Given the description of an element on the screen output the (x, y) to click on. 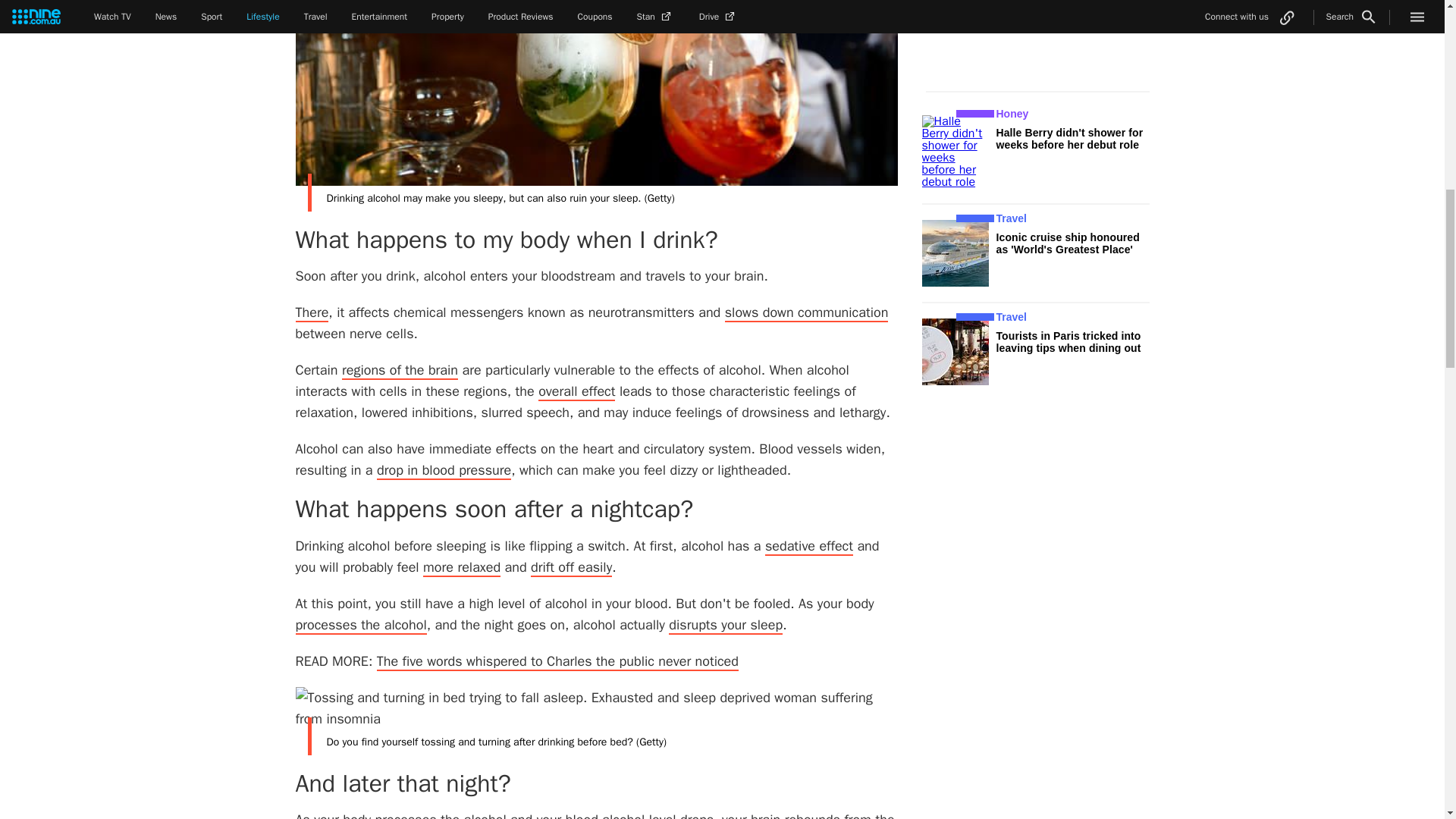
There (312, 312)
more relaxed (461, 567)
drift off easily (571, 567)
regions of the brain (400, 370)
sedative effect (809, 546)
drop in blood pressure (444, 470)
overall effect (576, 392)
slows down communication (806, 312)
